Given the description of an element on the screen output the (x, y) to click on. 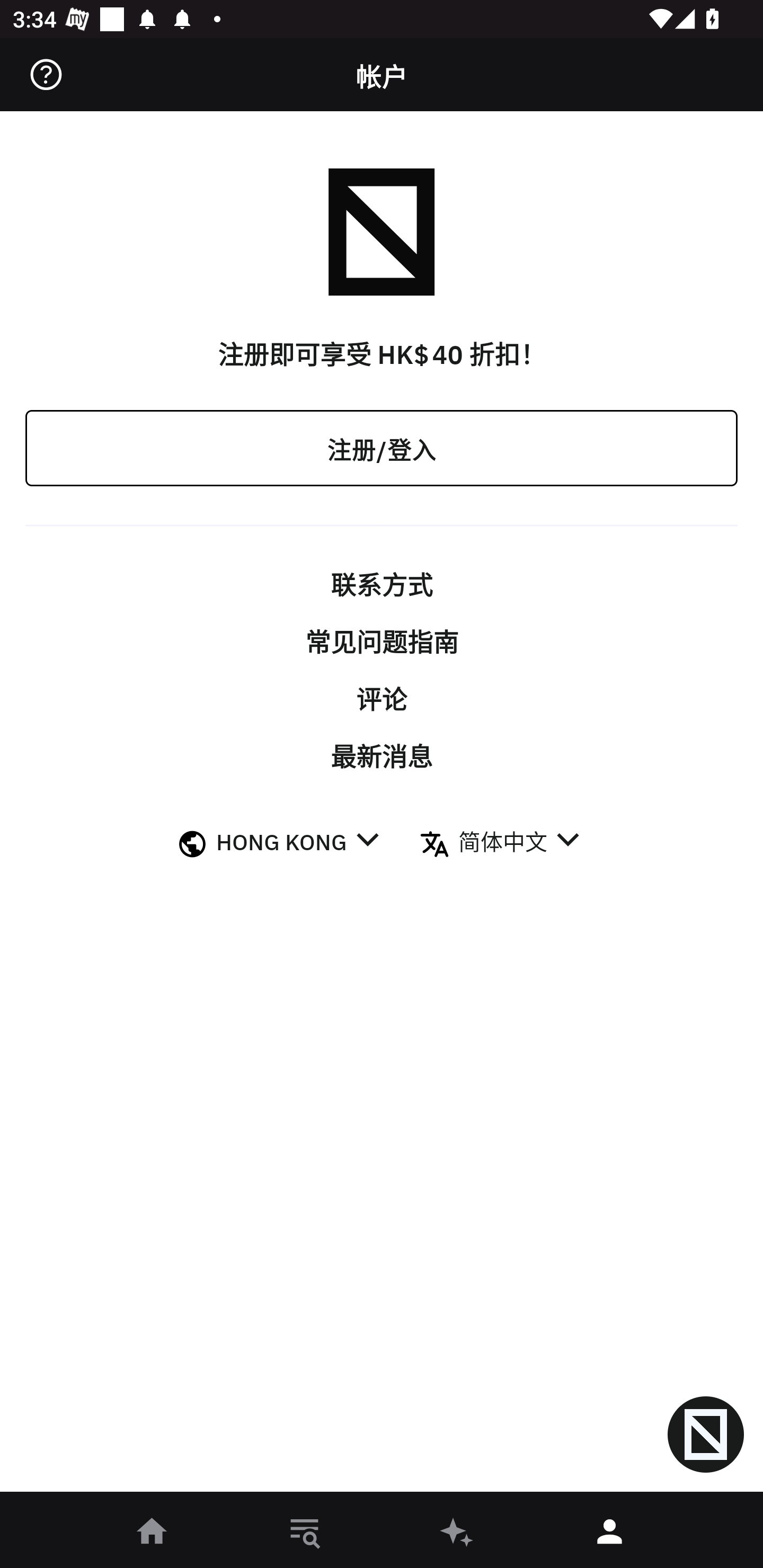
 (46, 74)
注册/登入 (381, 447)
HONG KONG  (297, 843)
简体中文  (518, 843)
󰋜 (152, 1532)
󱎸 (305, 1532)
󰫢 (457, 1532)
󰀄 (610, 1532)
